Given the description of an element on the screen output the (x, y) to click on. 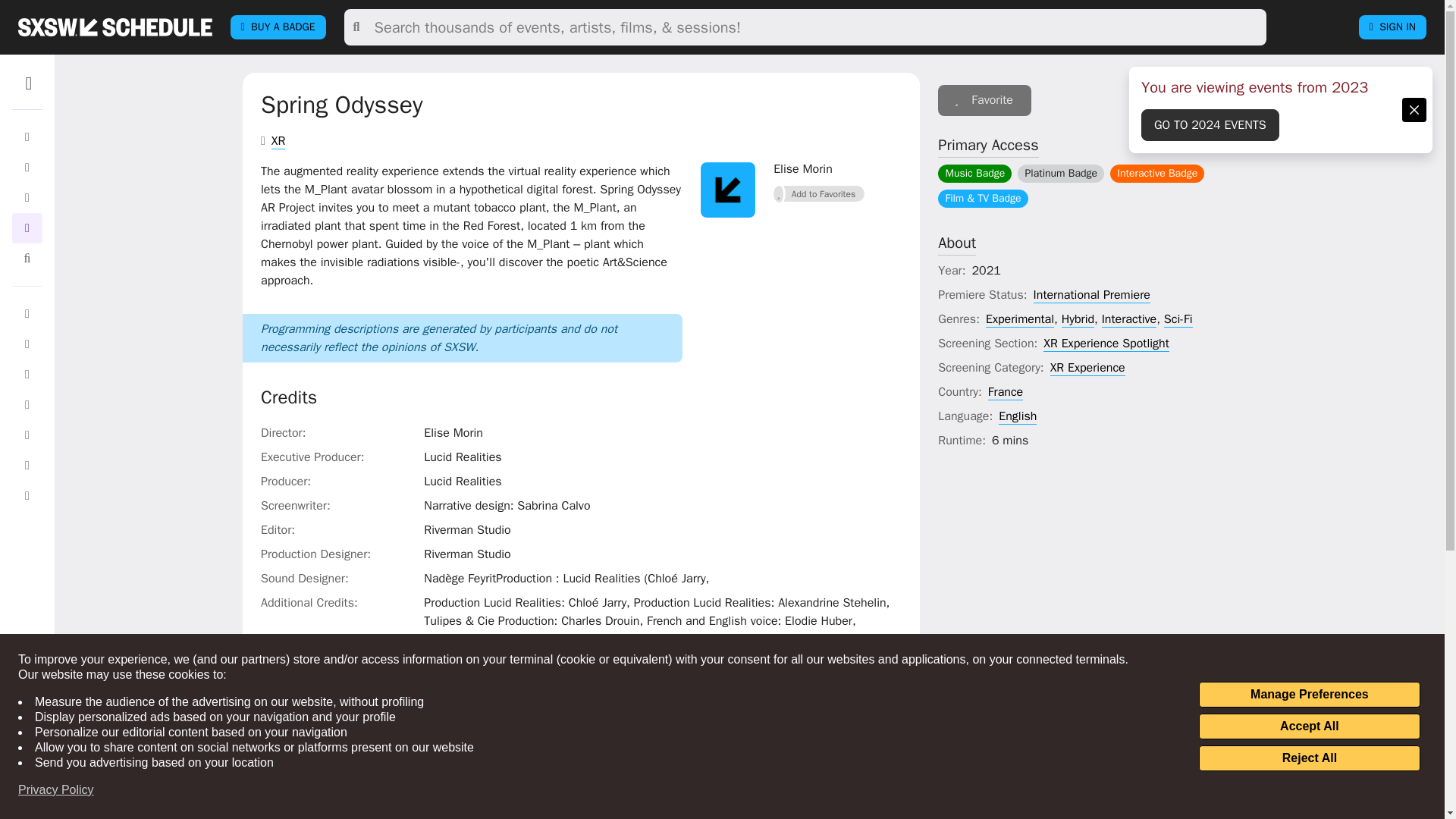
XR (277, 141)
Reject All (1309, 758)
Sign In to add to your favorites. (818, 193)
Sign In to add to your favorites. (983, 100)
BUY A BADGE (278, 27)
sxsw SCHEDULE (114, 27)
Privacy Policy (55, 789)
GO TO 2024 EVENTS (1210, 124)
SIGN IN (1392, 27)
Manage Preferences (1309, 694)
Accept All (1309, 726)
